Given the description of an element on the screen output the (x, y) to click on. 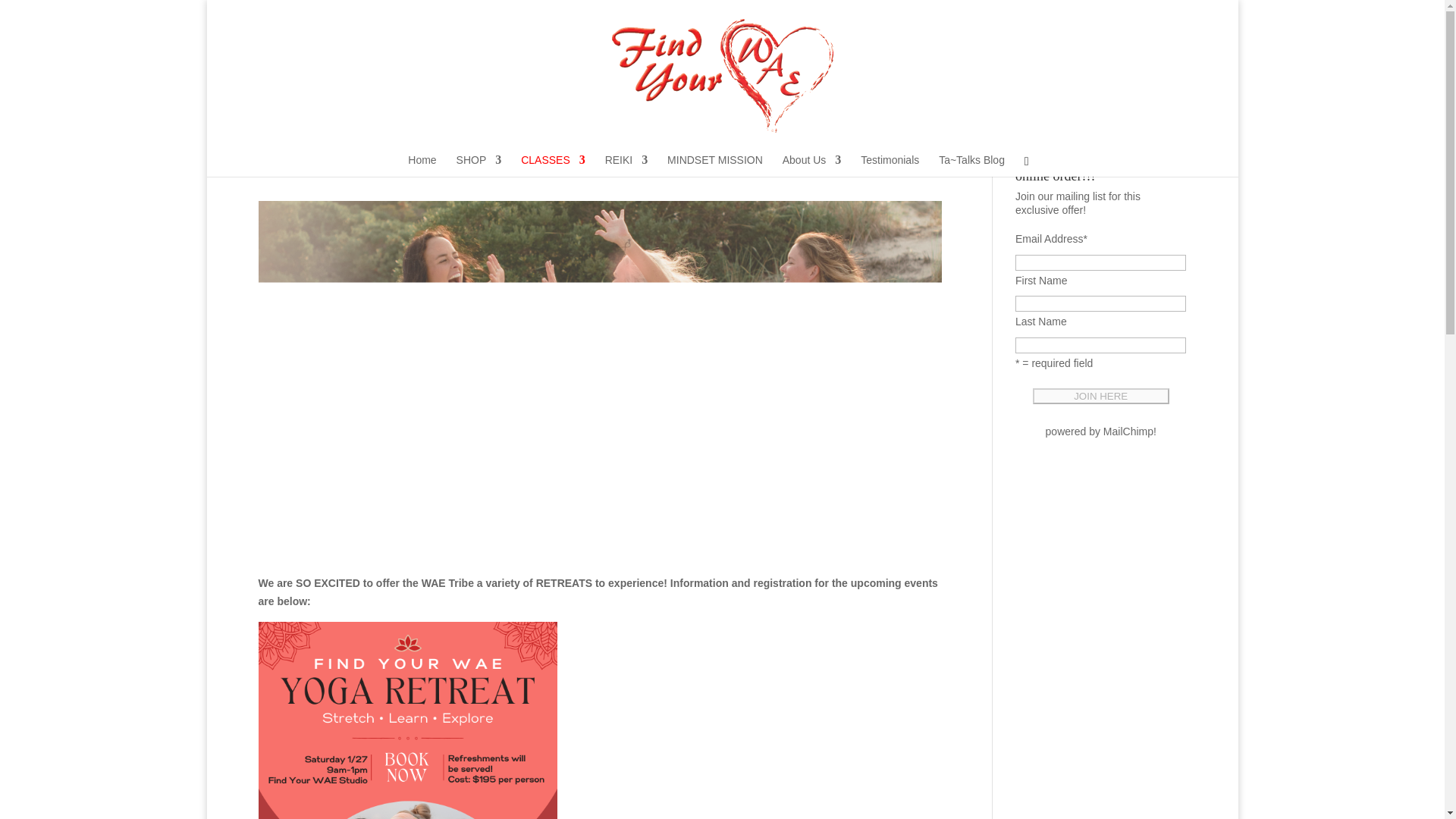
MINDSET MISSION (714, 165)
Home (421, 165)
About Us (812, 165)
JOIN HERE (1100, 396)
SHOP (479, 165)
REIKI (626, 165)
CLASSES (553, 165)
MailChimp (1128, 431)
JOIN HERE (1100, 396)
Testimonials (889, 165)
